Given the description of an element on the screen output the (x, y) to click on. 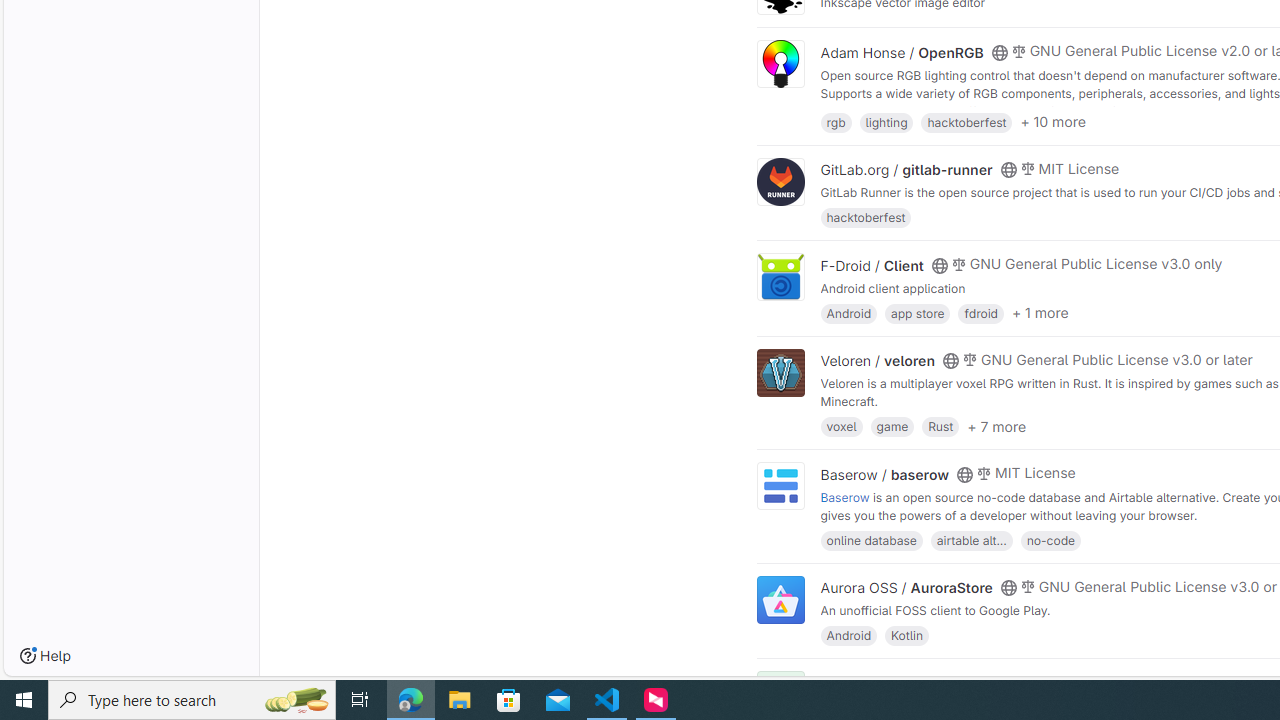
+ 1 more (1039, 313)
Aurora OSS / AuroraStore (906, 587)
Class: project (780, 599)
hacktoberfest (866, 217)
rgb (836, 120)
+ 10 more (1053, 121)
Adam Honse / OpenRGB (902, 52)
Android (848, 634)
Class: s16 (999, 683)
app store (917, 312)
GitLab.org / gitlab-runner (906, 170)
Baserow / baserow (884, 474)
Rust (940, 426)
lighting (886, 120)
